Given the description of an element on the screen output the (x, y) to click on. 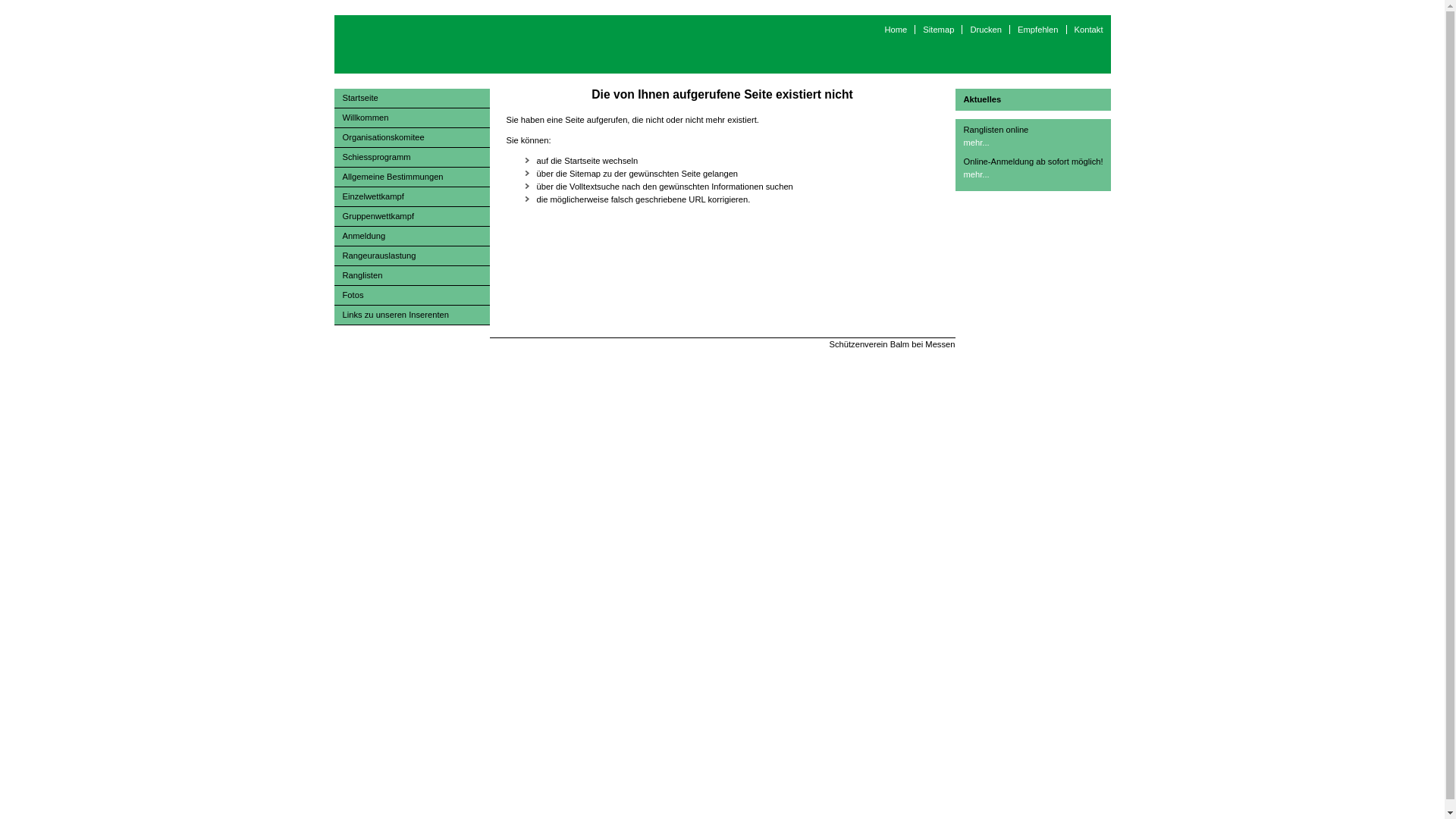
Startseite Element type: text (411, 98)
Kontakt Element type: text (1088, 29)
Schiessprogramm Element type: text (411, 157)
Organisationskomitee Element type: text (411, 137)
Drucken Element type: text (985, 29)
Einzelwettkampf Element type: text (411, 197)
Empfehlen Element type: text (1037, 29)
Gruppenwettkampf Element type: text (411, 216)
mehr... Element type: text (975, 173)
Sitemap Element type: text (937, 29)
mehr... Element type: text (975, 142)
Links zu unseren Inserenten Element type: text (411, 315)
Allgemeine Bestimmungen Element type: text (411, 177)
Rangeurauslastung Element type: text (411, 256)
Fotos Element type: text (411, 295)
Anmeldung Element type: text (411, 236)
Willkommen Element type: text (411, 118)
Home Element type: text (895, 29)
Ranglisten Element type: text (411, 275)
